Given the description of an element on the screen output the (x, y) to click on. 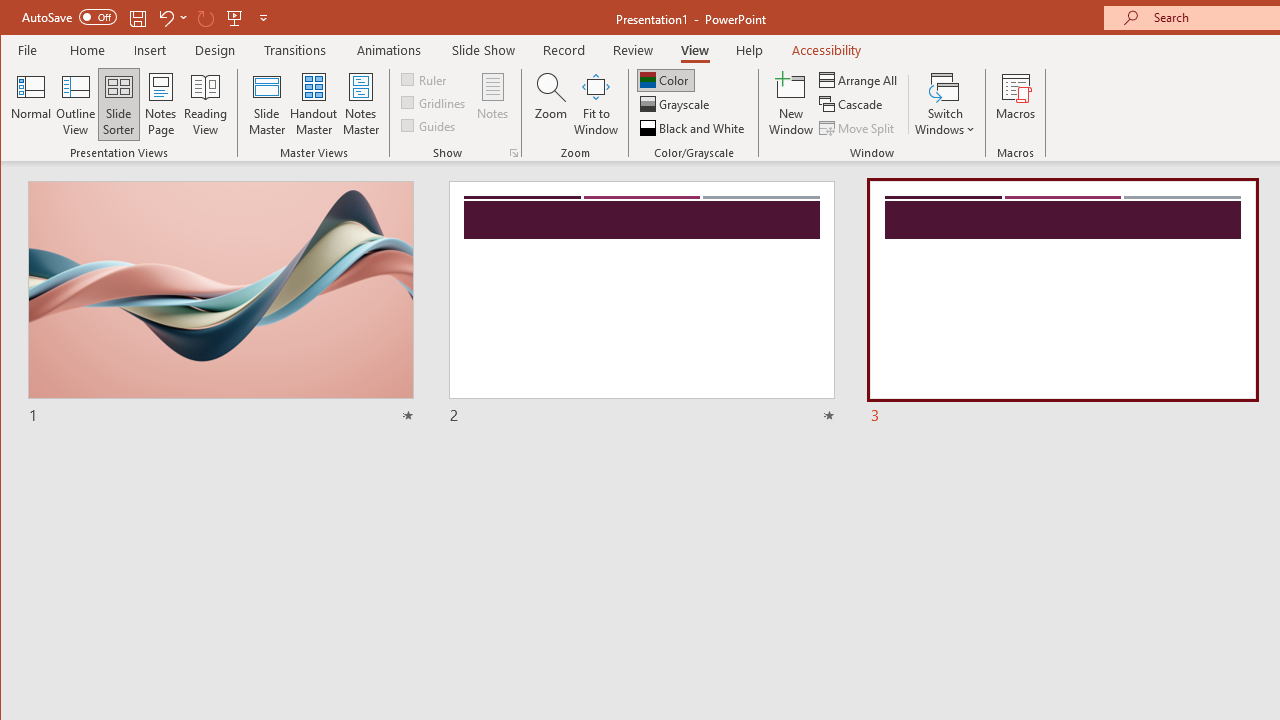
Cascade (852, 103)
